Given the description of an element on the screen output the (x, y) to click on. 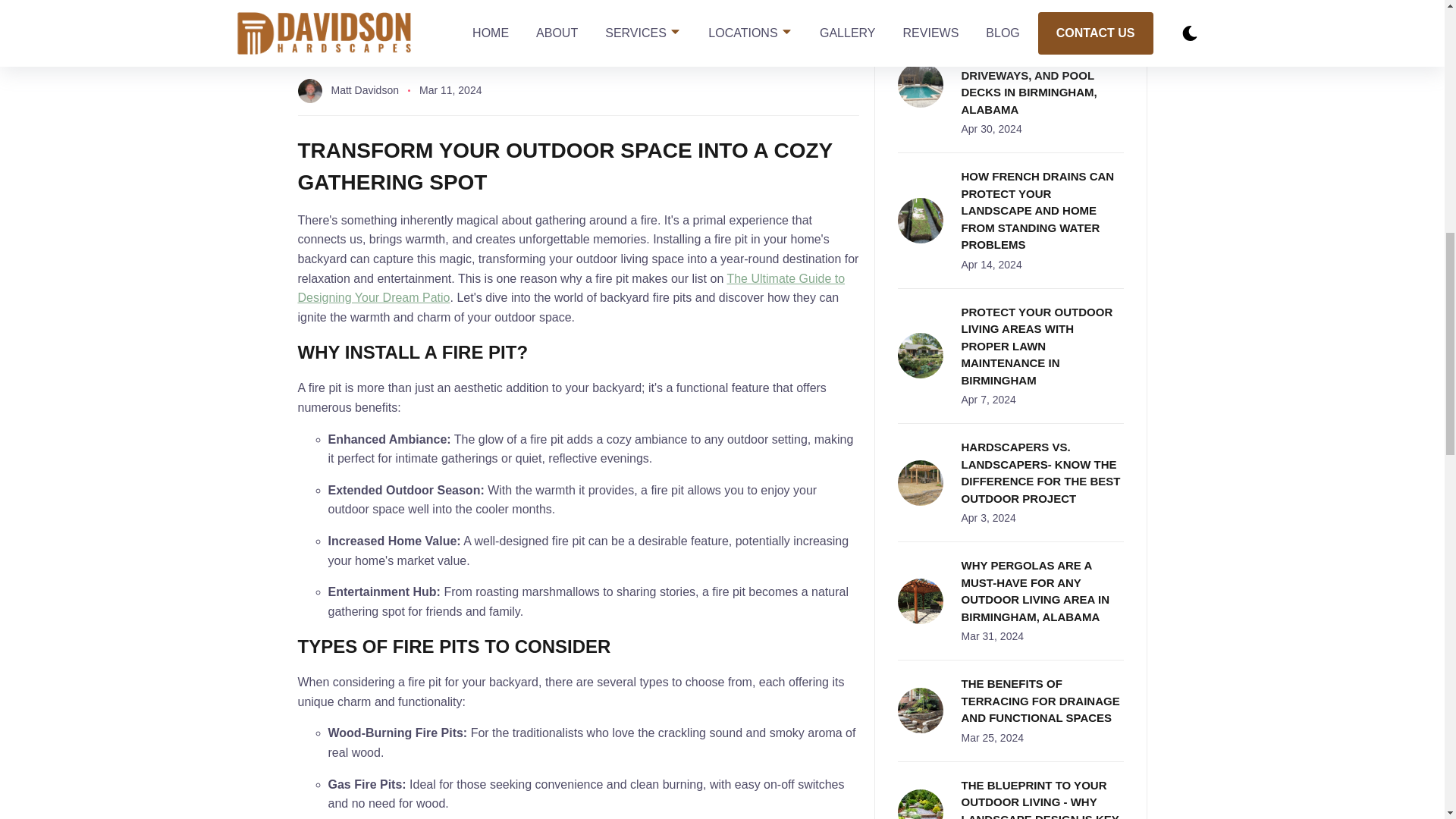
The Ultimate Guide to Designing Your Dream Patio (570, 287)
